Given the description of an element on the screen output the (x, y) to click on. 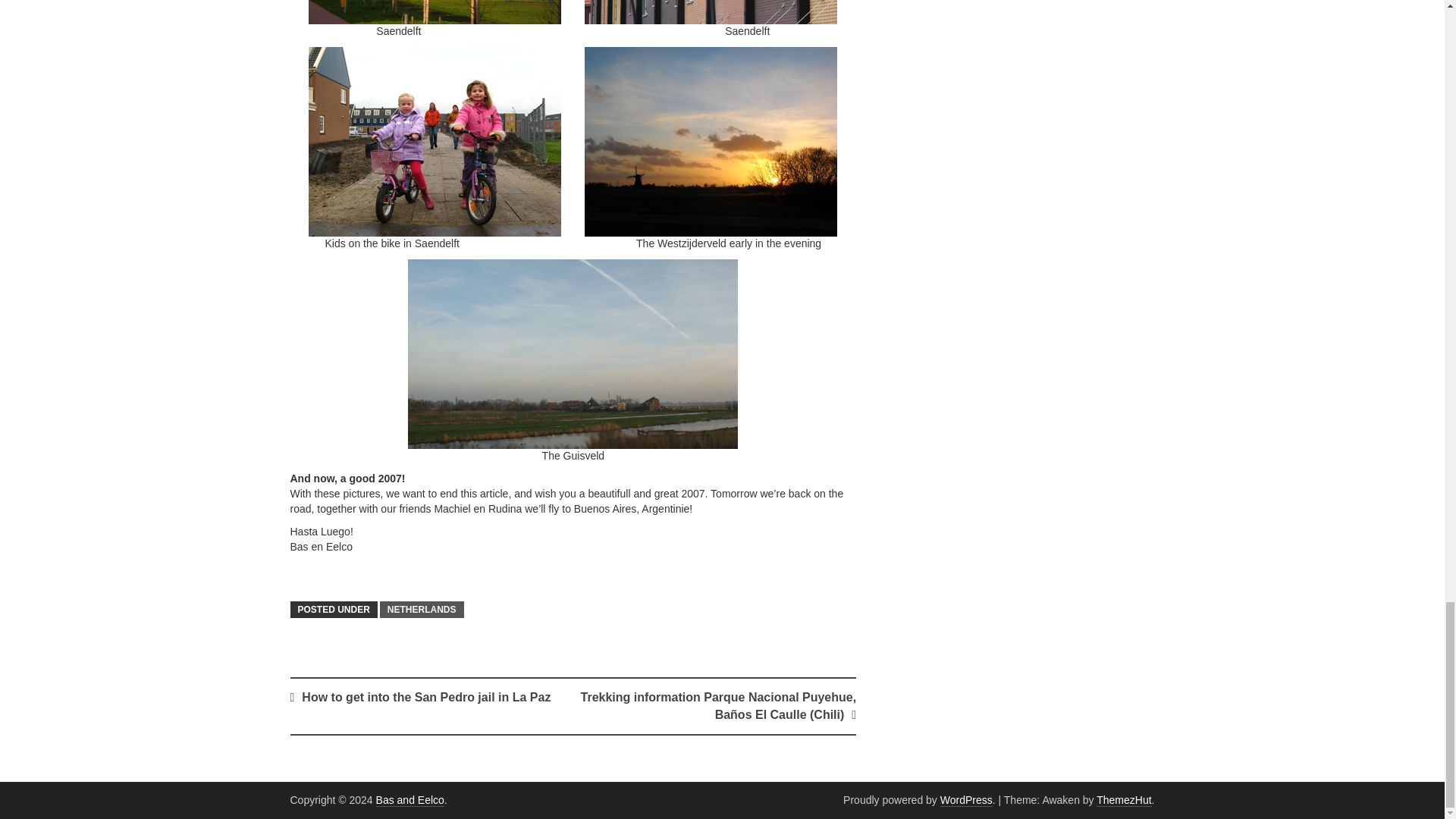
Bas and Eelco (409, 799)
WordPress (966, 799)
NETHERLANDS (422, 609)
How to get into the San Pedro jail in La Paz (425, 697)
